Given the description of an element on the screen output the (x, y) to click on. 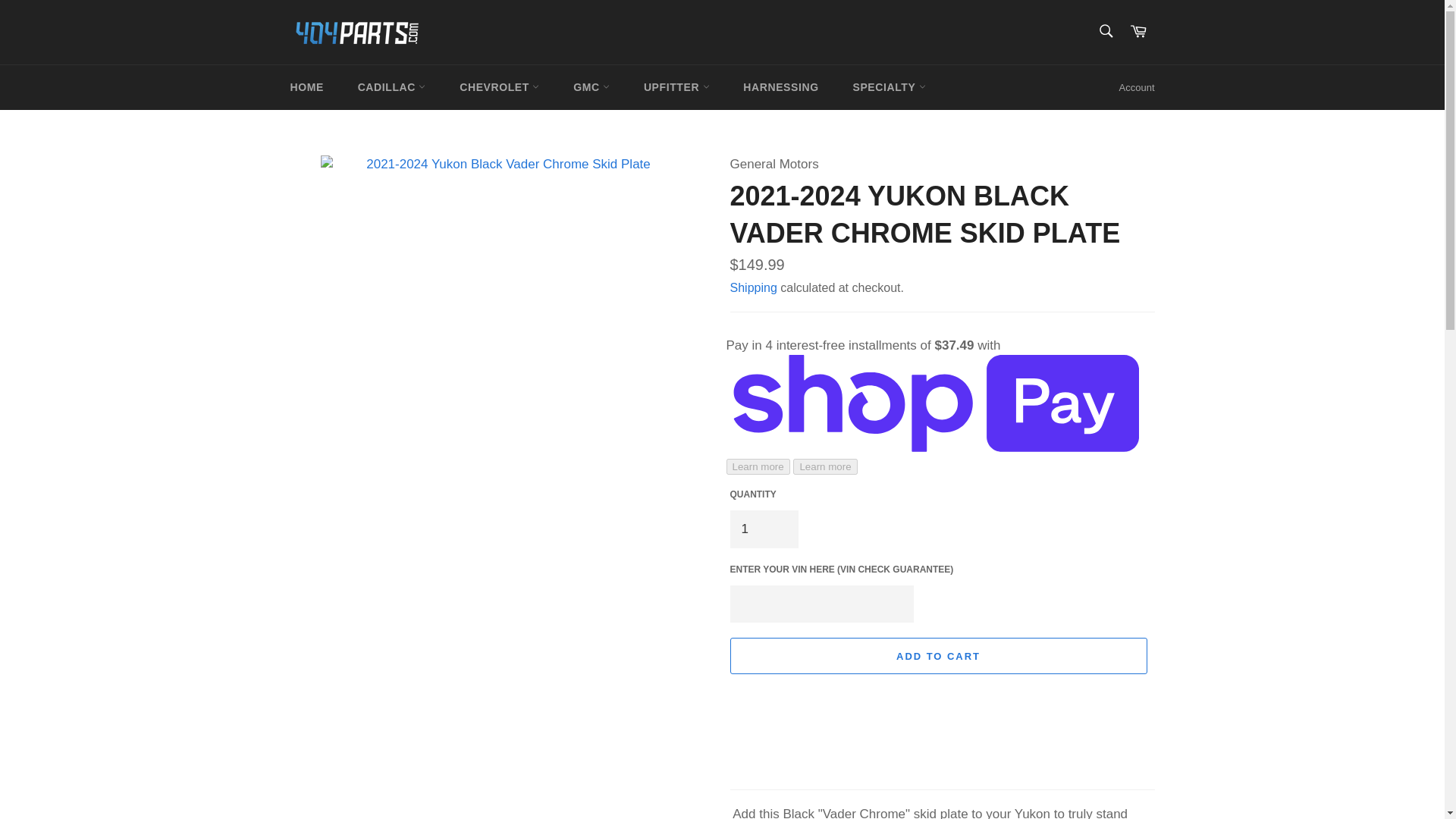
1 (763, 528)
